Given the description of an element on the screen output the (x, y) to click on. 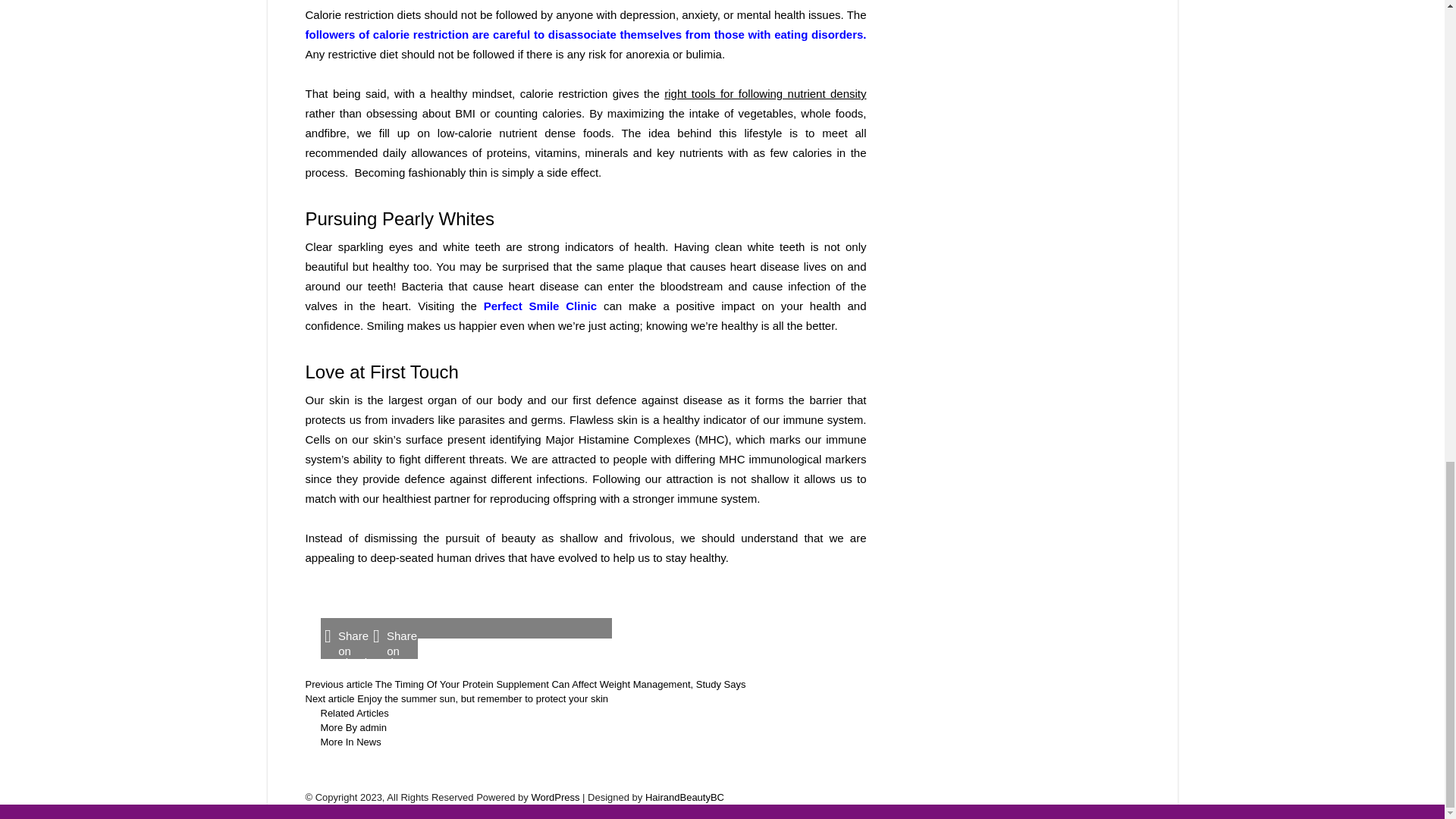
Perfect Smile Clinic (539, 305)
reddit (440, 628)
Share on Tumblr (586, 628)
pinterest (489, 628)
Share on Linkedin (537, 628)
Share on Reddit (440, 628)
linkedin (537, 628)
Share on Pinterest (489, 628)
tumblr (586, 628)
